Given the description of an element on the screen output the (x, y) to click on. 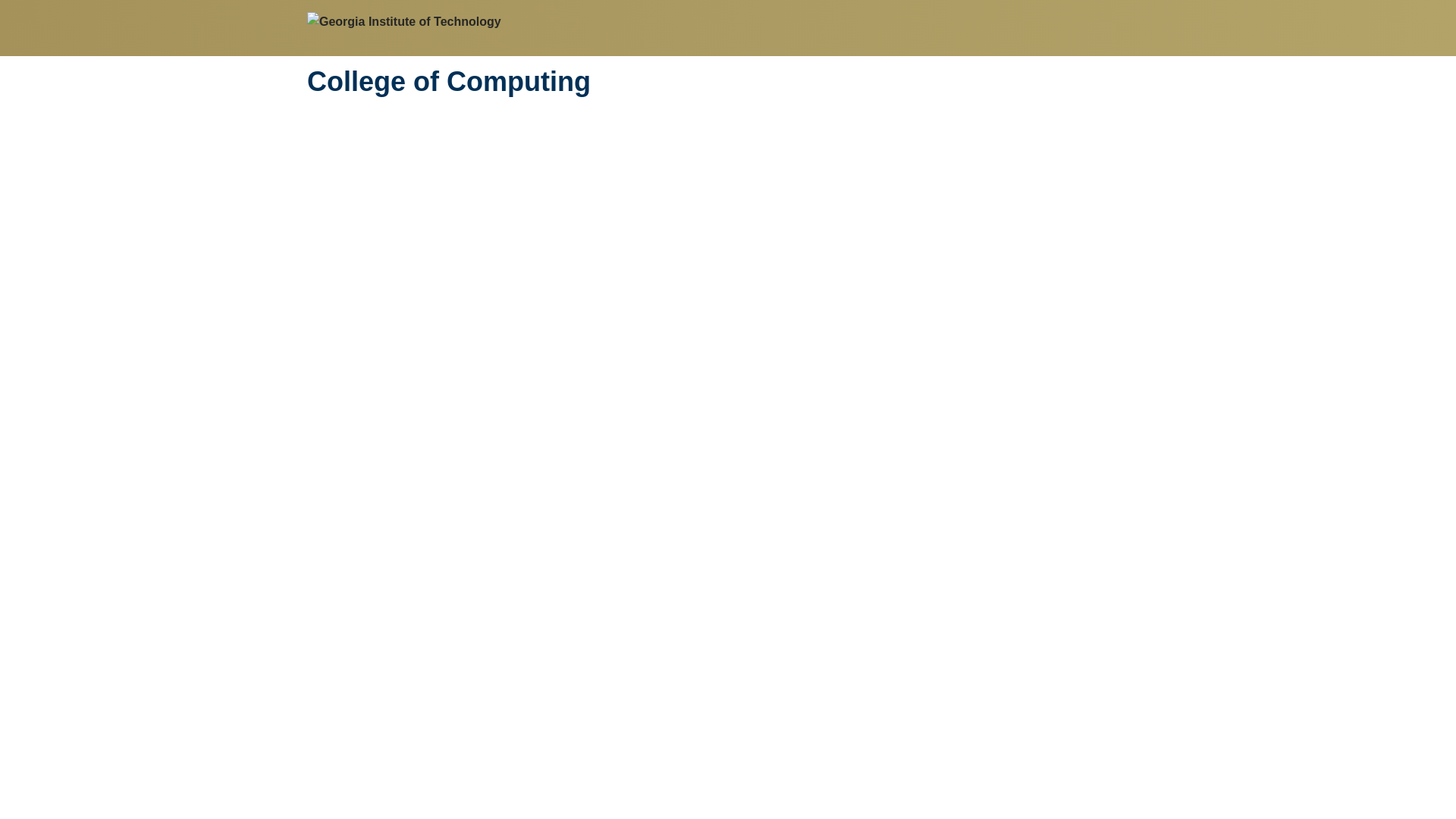
Georgia Institute of Technology (403, 21)
College of Computing (449, 81)
College of Computing (449, 81)
